Given the description of an element on the screen output the (x, y) to click on. 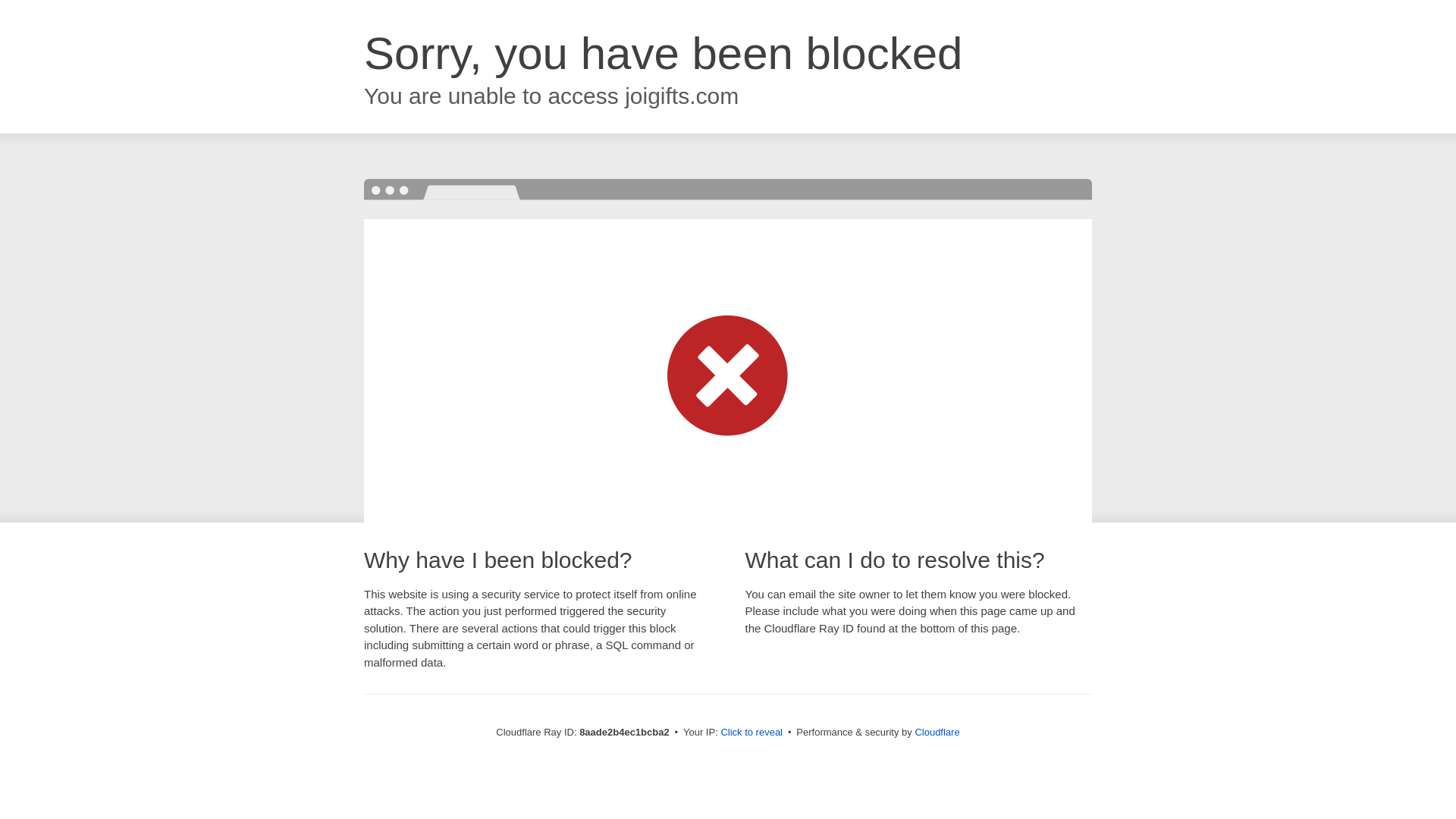
Click to reveal (751, 732)
Cloudflare (936, 731)
